Given the description of an element on the screen output the (x, y) to click on. 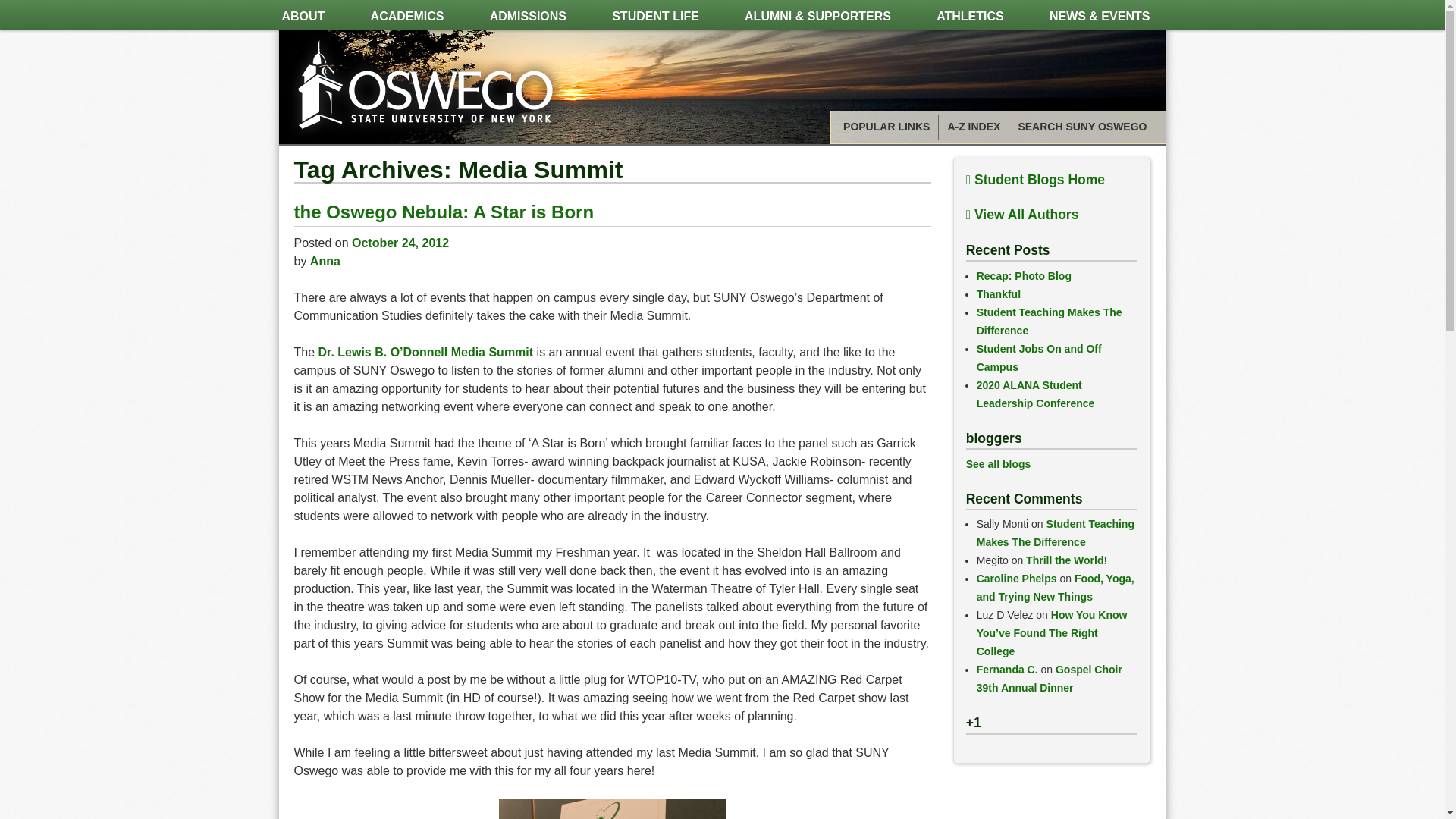
View all posts by Anna (325, 260)
Student Jobs On and Off Campus (1039, 358)
A-Z INDEX (973, 126)
ADMISSIONS (527, 17)
the Oswego Nebula: A Star is Born (444, 211)
10:02 pm (400, 242)
STUDENT LIFE (654, 17)
Student Blogs Home (1035, 179)
Sign (612, 808)
Anna (325, 260)
